Given the description of an element on the screen output the (x, y) to click on. 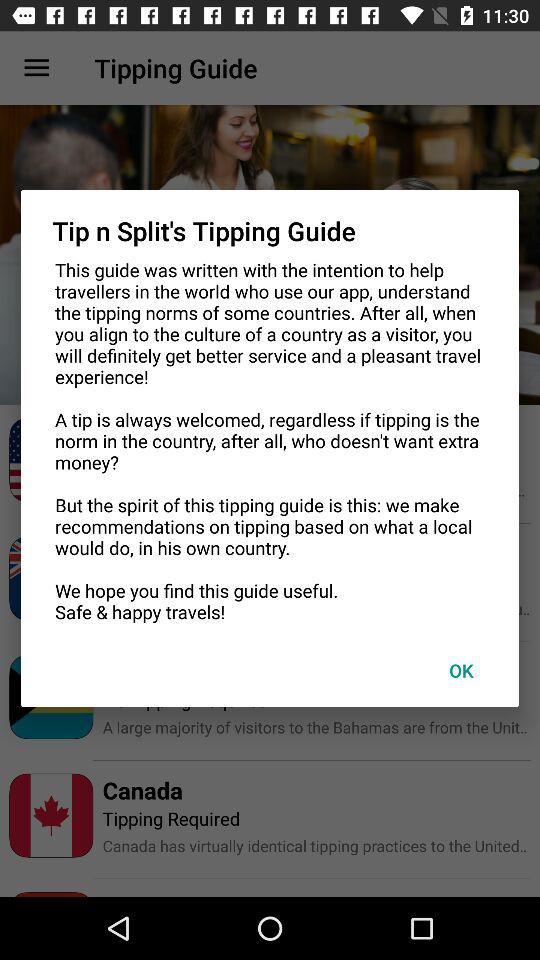
turn on ok item (461, 669)
